Given the description of an element on the screen output the (x, y) to click on. 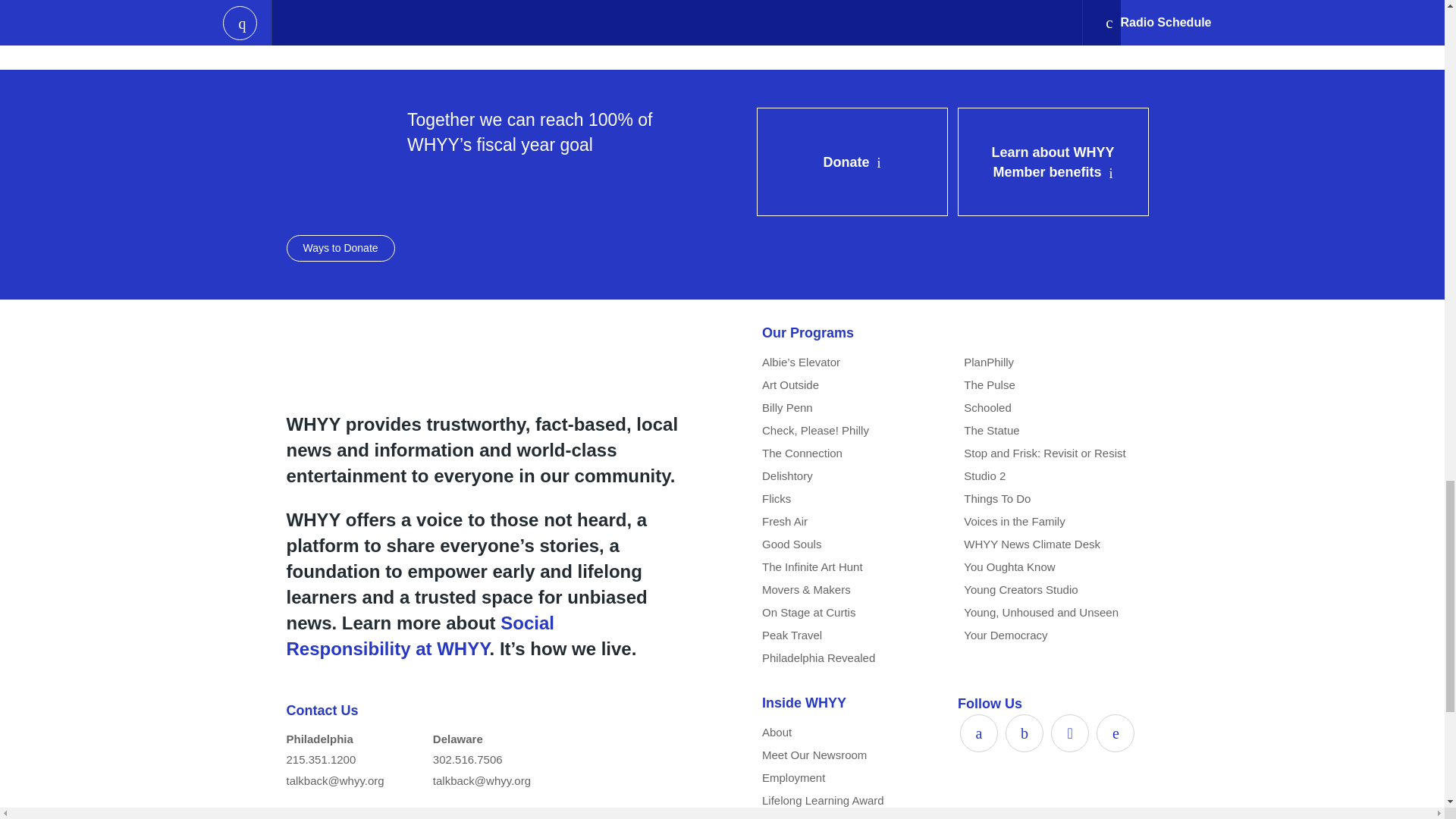
Donate (852, 161)
Subscribe (664, 19)
Ways to Donate (340, 248)
Learn about WHYY Member benefits (1052, 161)
